Given the description of an element on the screen output the (x, y) to click on. 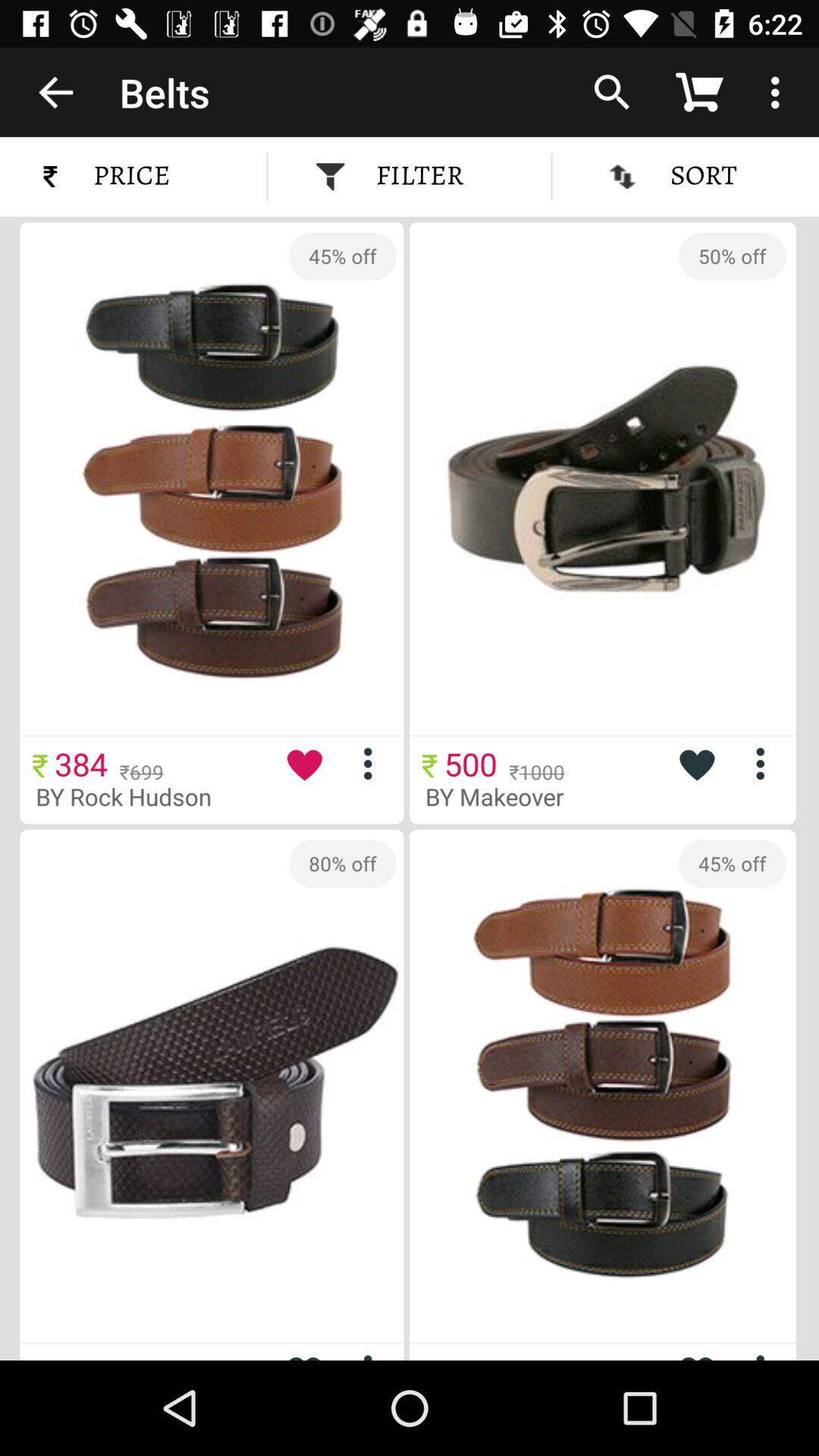
launch by makeover icon (506, 796)
